Given the description of an element on the screen output the (x, y) to click on. 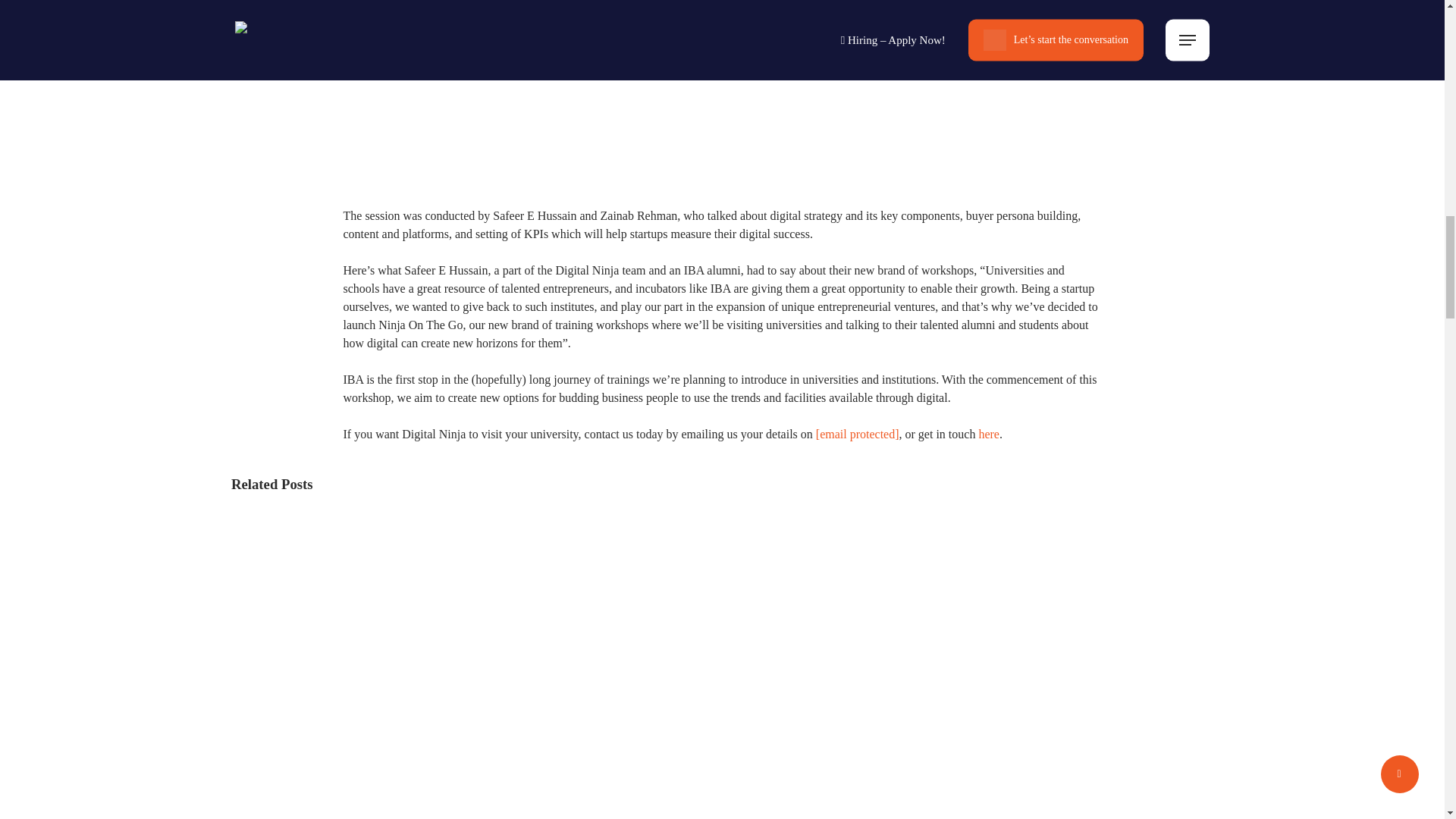
1 (721, 37)
1 (721, 66)
here (988, 433)
